Given the description of an element on the screen output the (x, y) to click on. 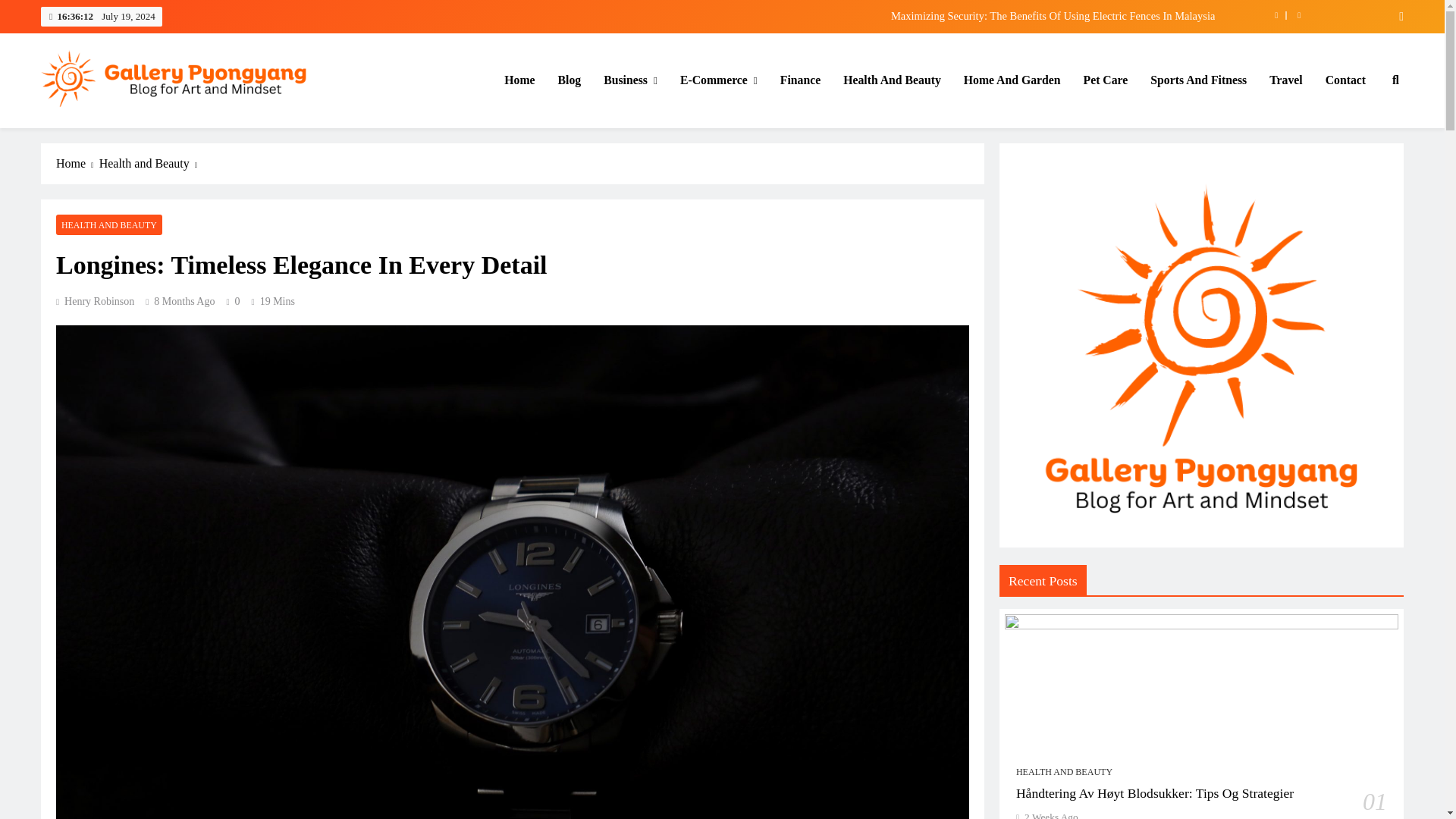
Sports And Fitness (1197, 79)
Finance (799, 79)
Travel (1285, 79)
Business (630, 80)
Home (77, 163)
Health And Beauty (891, 79)
8 Months Ago (184, 301)
Henry Robinson (94, 301)
HEALTH AND BEAUTY (108, 224)
Gallery Pyongyang (136, 129)
E-Commerce (718, 80)
Pet Care (1105, 79)
Home (519, 79)
Home And Garden (1011, 79)
